Given the description of an element on the screen output the (x, y) to click on. 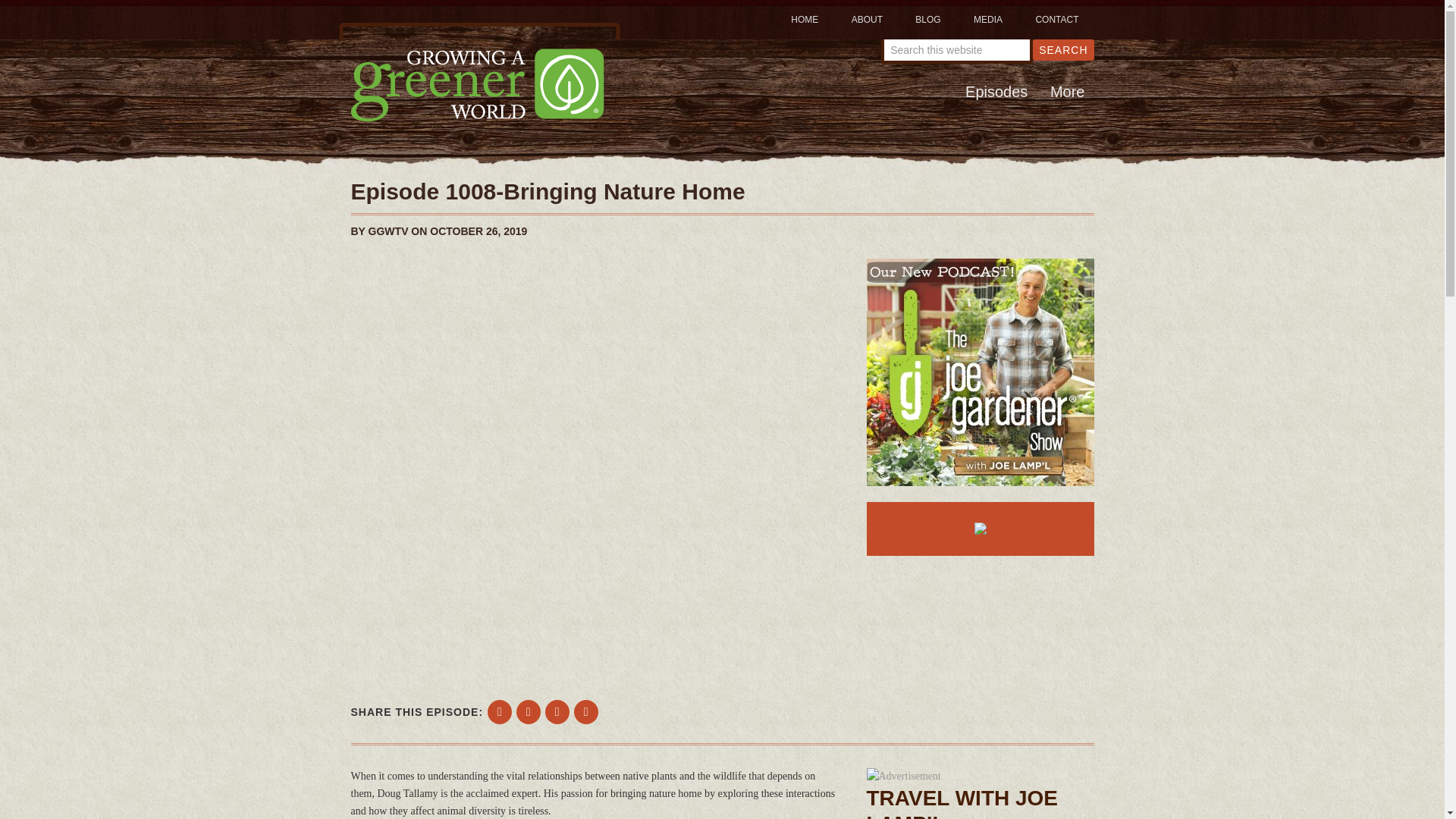
Episodes (996, 91)
HOME (804, 19)
ABOUT (866, 19)
Share on Facebook (499, 711)
MEDIA (987, 19)
Search (1062, 49)
Search (1062, 49)
Share on Twitter (528, 711)
Search (1062, 49)
CONTACT (1056, 19)
